Given the description of an element on the screen output the (x, y) to click on. 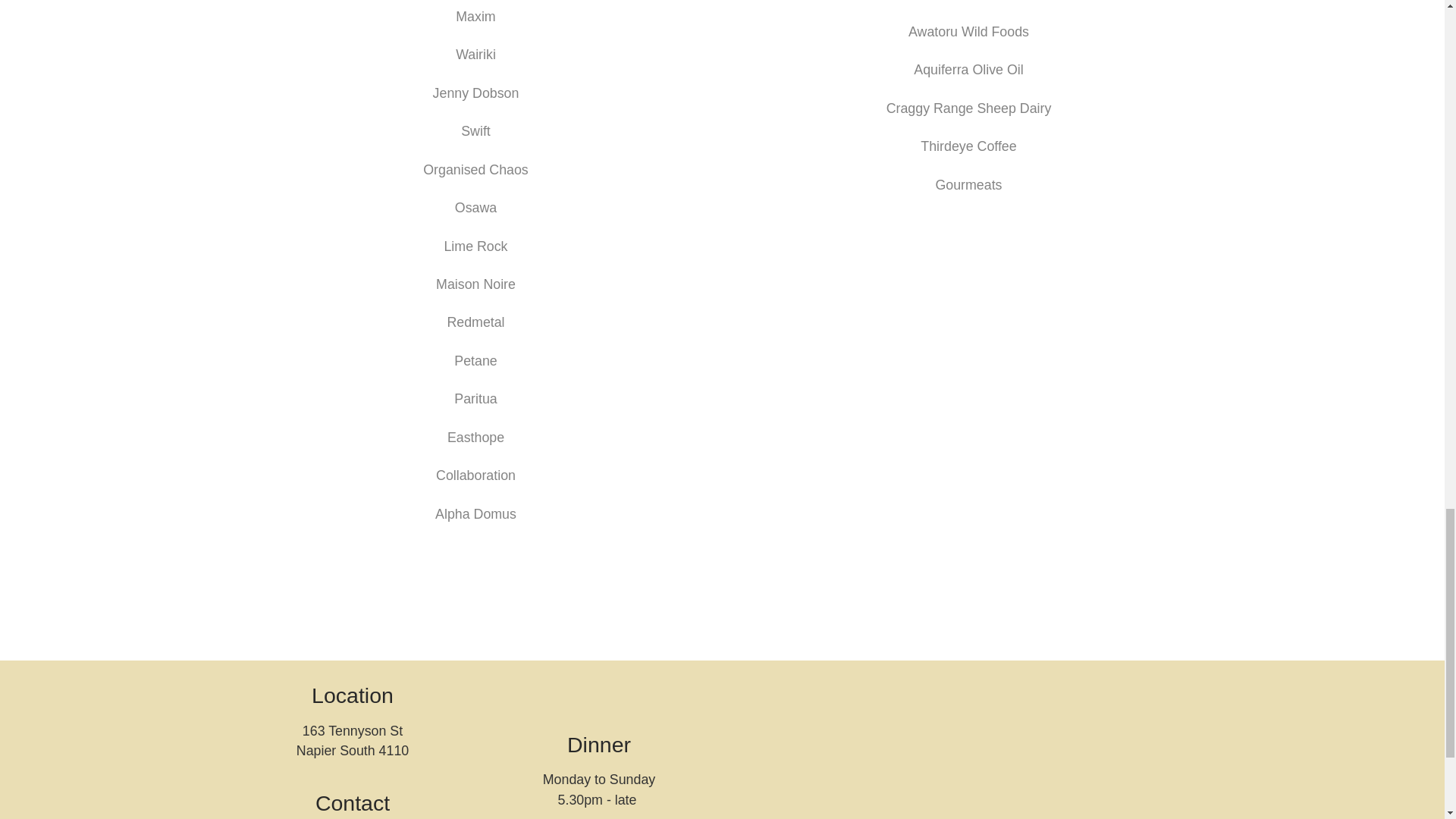
Aquiferra Olive Oil (968, 69)
Alpha Domus (475, 513)
Awatoru Wild Foods (968, 31)
Craggy Range Sheep Dairy (968, 108)
Osawa (475, 207)
Jenny Dobson (475, 92)
Organised Chaos (475, 169)
Swift (475, 130)
Paritua (475, 398)
Gourmeats (967, 184)
Easthope (474, 437)
Maison Noire (475, 283)
Redmetal (474, 322)
Petane (475, 360)
Thirdeye Coffee (968, 145)
